Given the description of an element on the screen output the (x, y) to click on. 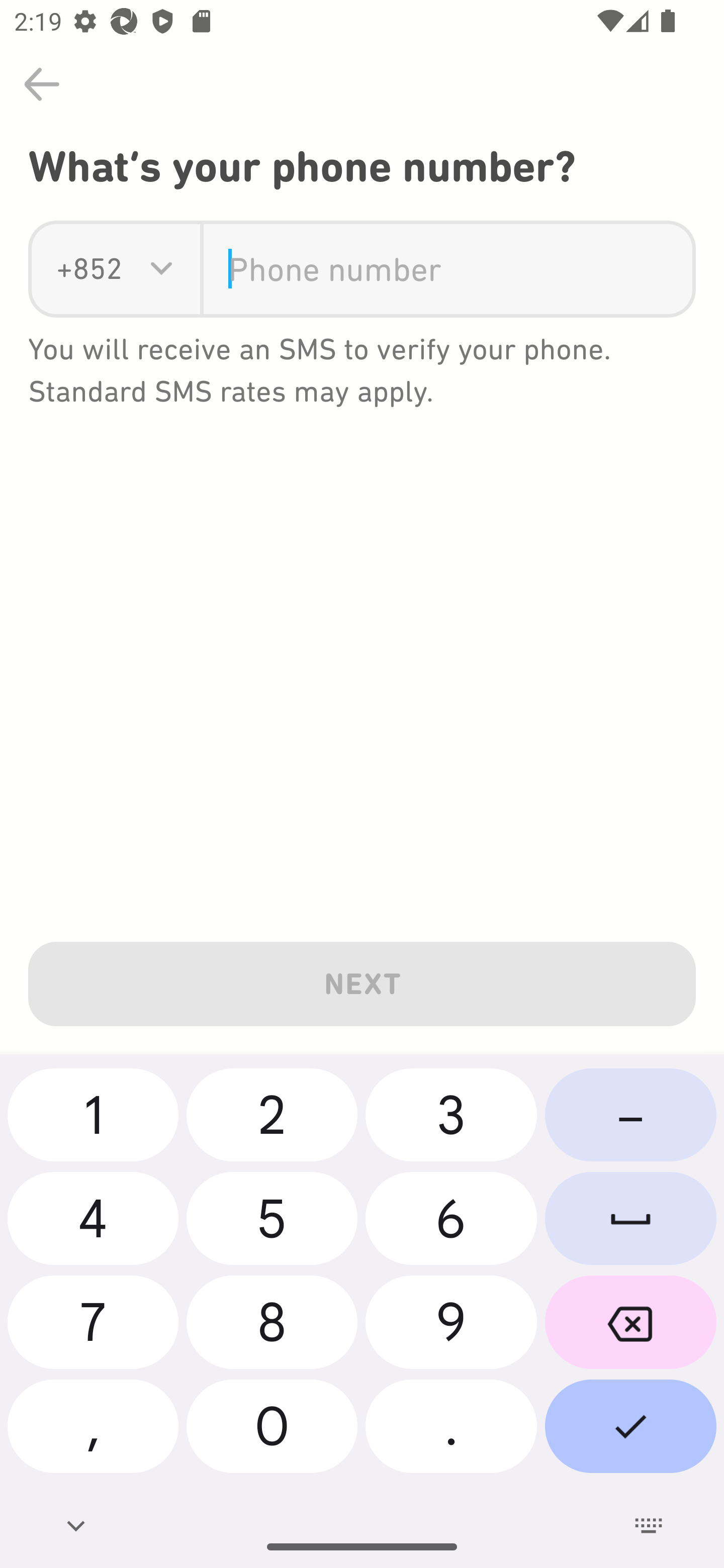
Back (41, 84)
+852 (89, 269)
Phone number (447, 269)
NEXT (361, 979)
